Given the description of an element on the screen output the (x, y) to click on. 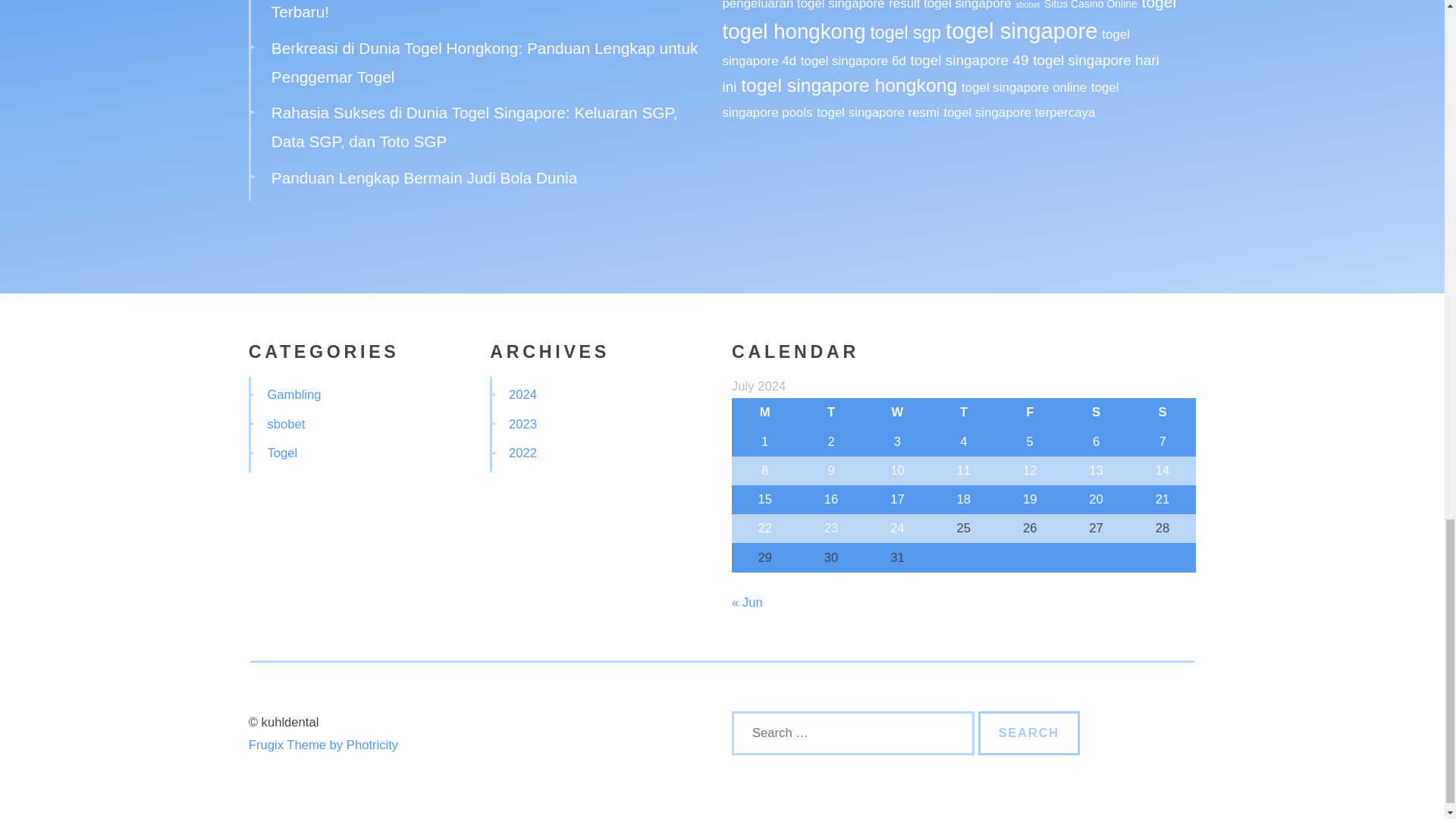
Search (1029, 733)
Panduan Lengkap Bermain Judi Bola Dunia (424, 177)
Saturday (1095, 412)
Search (1029, 733)
pengeluaran togel singapore (802, 5)
Thursday (962, 412)
Wednesday (897, 412)
Tuesday (830, 412)
Sunday (1162, 412)
Friday (1029, 412)
Monday (764, 412)
sbobet (1026, 4)
result togel singapore (949, 5)
